Given the description of an element on the screen output the (x, y) to click on. 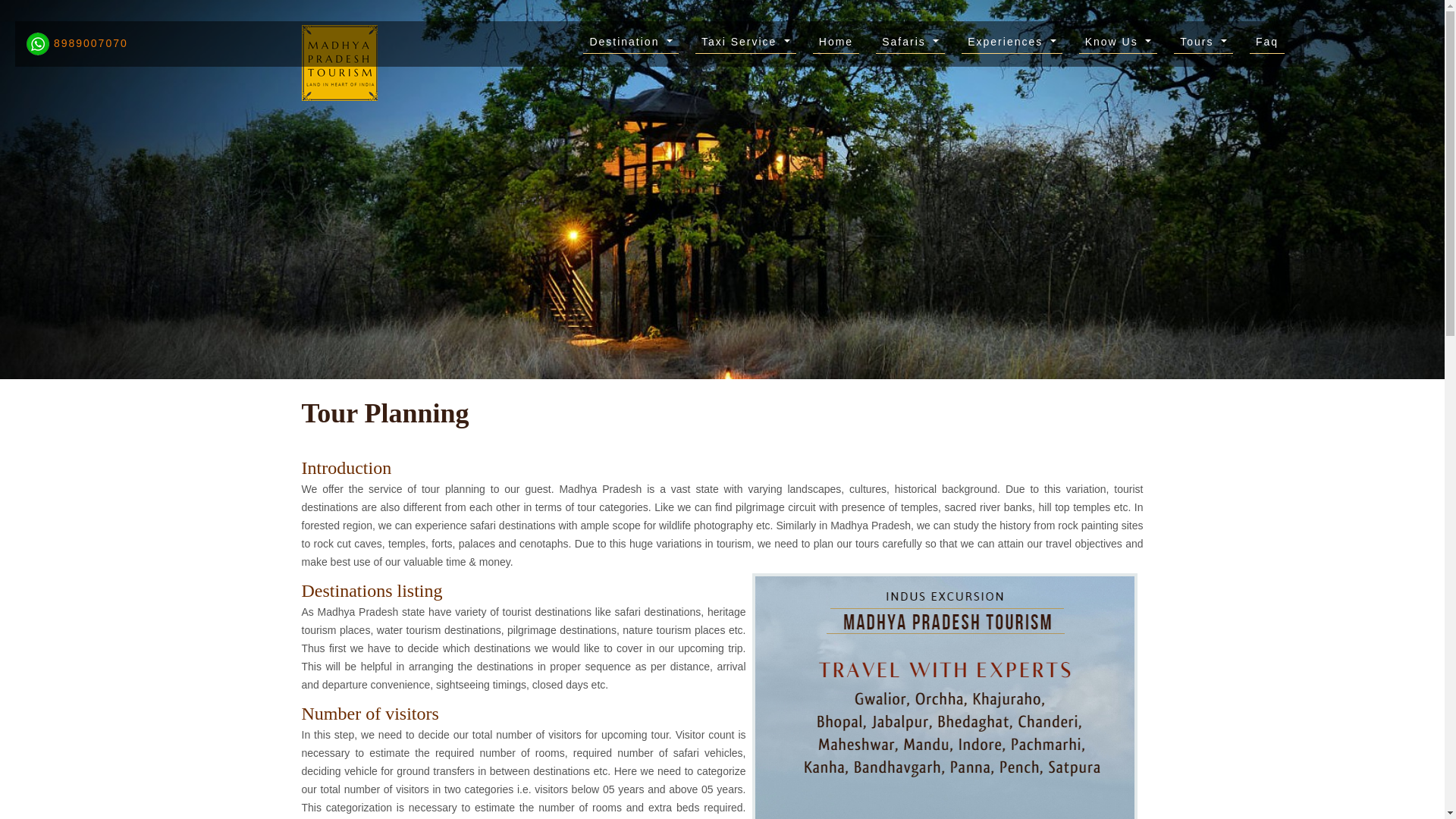
Destination (630, 43)
 8989007070 (77, 42)
Destination (630, 43)
